Given the description of an element on the screen output the (x, y) to click on. 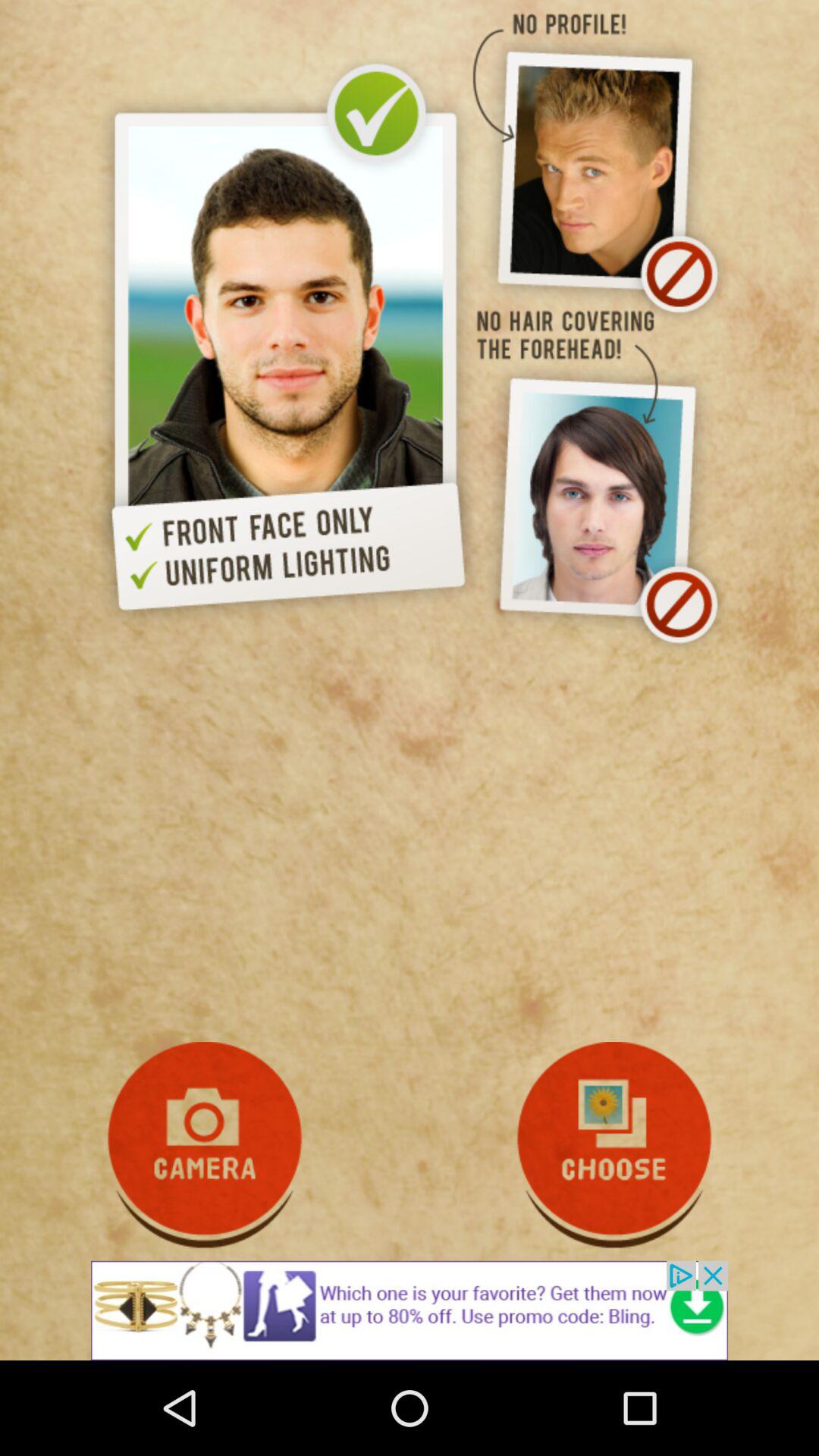
choose picture (613, 1144)
